Given the description of an element on the screen output the (x, y) to click on. 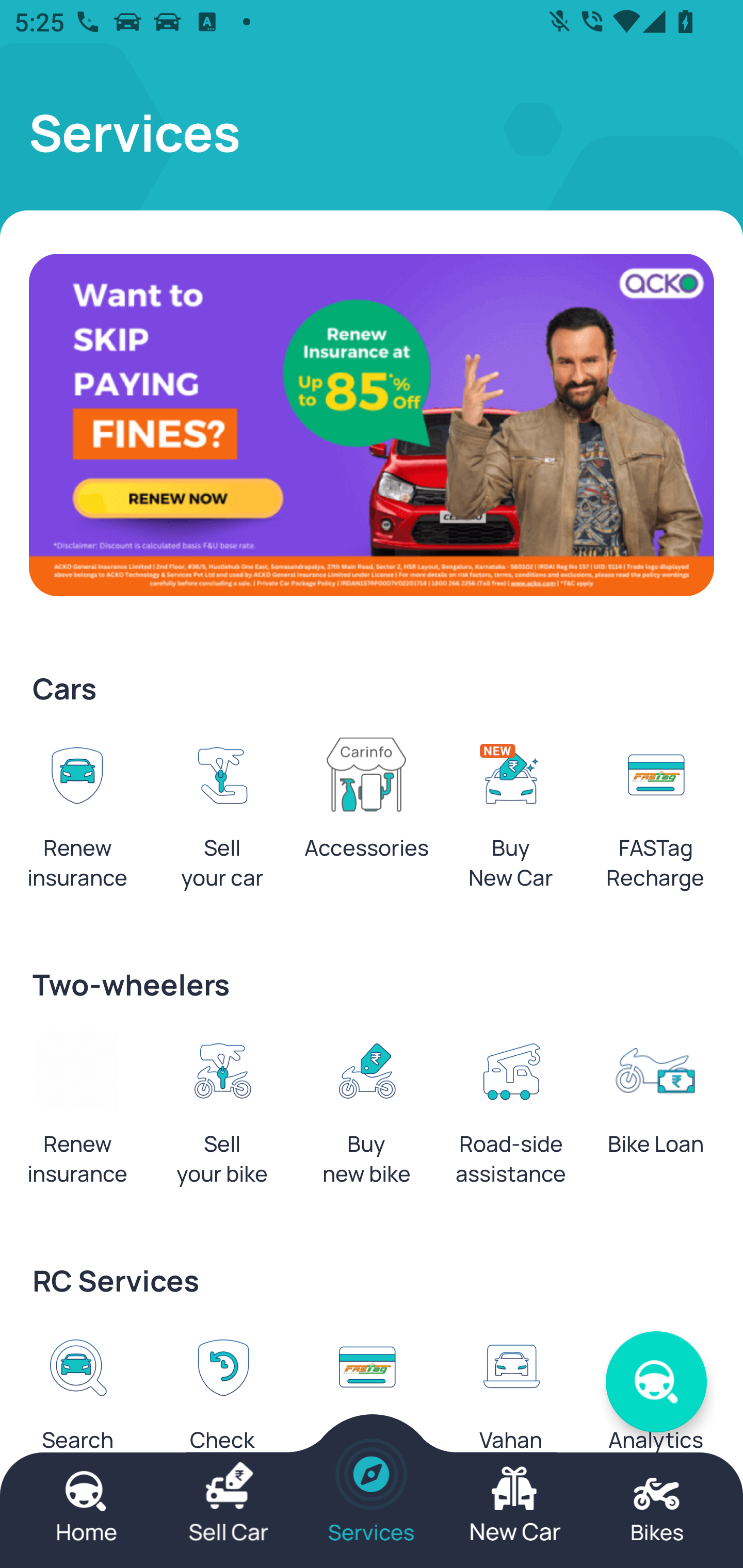
Renew
insurance (77, 818)
Sell
your car (221, 818)
Accessories (366, 803)
Buy
New Car (510, 818)
FASTag Recharge (655, 818)
Renew
insurance (77, 1114)
Sell
your bike (221, 1114)
Buy
new bike (366, 1114)
Road-side
assistance (510, 1114)
Bike Loan (655, 1099)
Search vehicle (77, 1410)
Check insurance (221, 1410)
Check FASTag (366, 1410)
Vahan services (510, 1410)
